Given the description of an element on the screen output the (x, y) to click on. 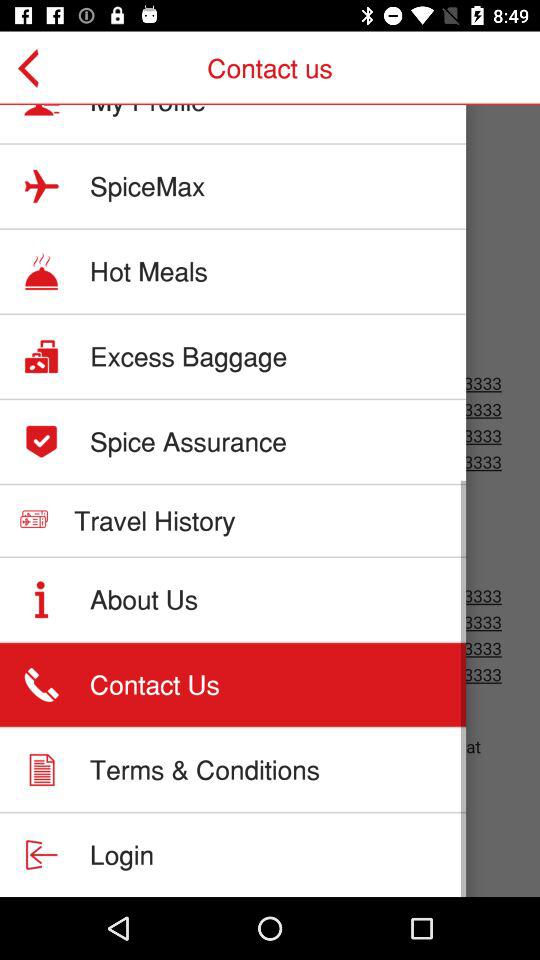
press the item below the hot meals icon (188, 356)
